Given the description of an element on the screen output the (x, y) to click on. 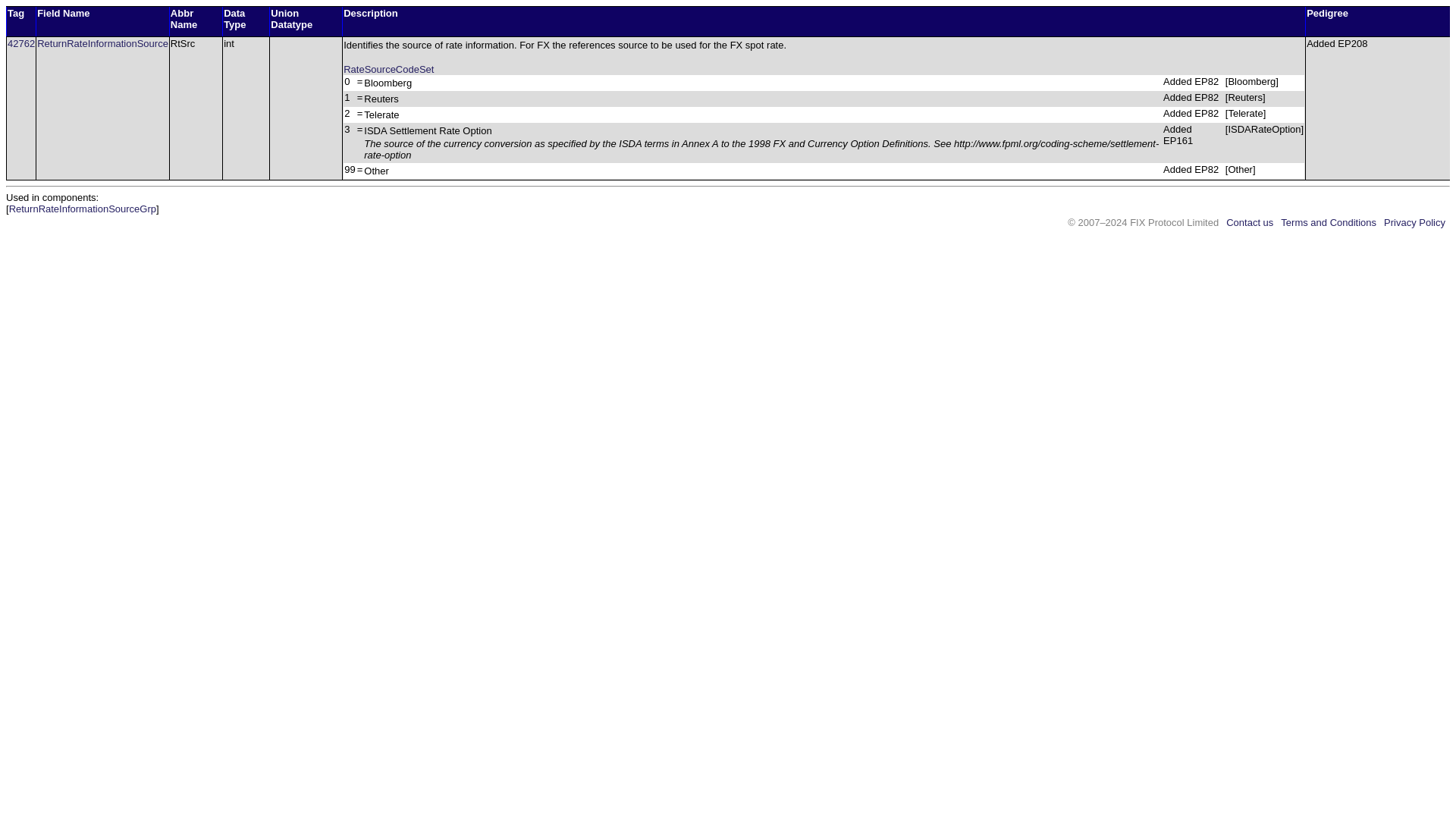
RateSourceCodeSet (388, 69)
42762 (20, 43)
ReturnRateInformationSource (102, 43)
ReturnRateInformationSourceGrp (81, 208)
